Given the description of an element on the screen output the (x, y) to click on. 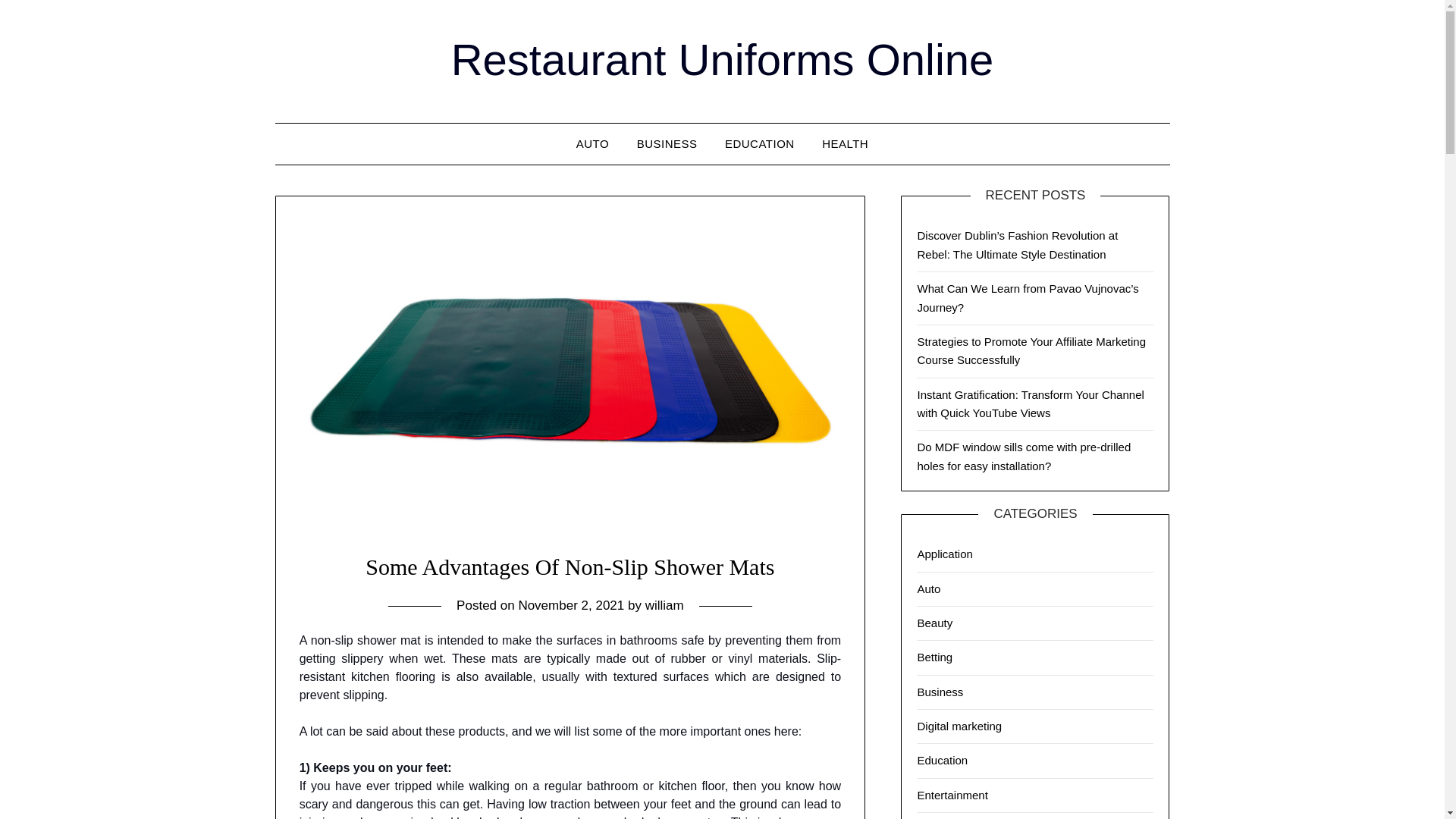
BUSINESS (667, 143)
HEALTH (844, 143)
AUTO (592, 143)
Beauty (934, 622)
Auto (928, 588)
Business (939, 691)
Education (942, 759)
Restaurant Uniforms Online (722, 59)
Digital marketing (959, 725)
william (664, 605)
Entertainment (952, 794)
Betting (934, 656)
Application (944, 553)
